Given the description of an element on the screen output the (x, y) to click on. 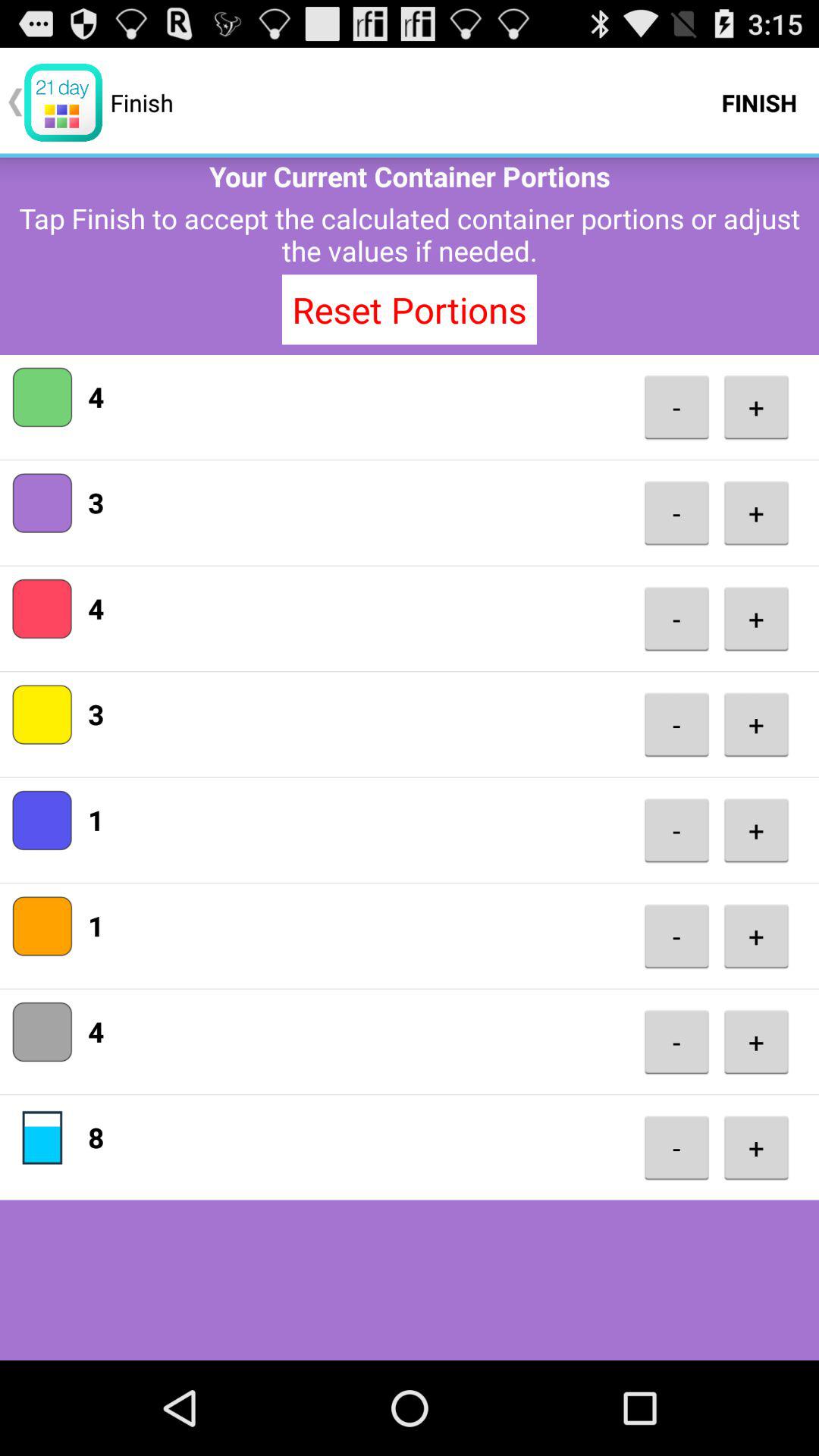
open the item to the right of the 1 app (676, 830)
